Given the description of an element on the screen output the (x, y) to click on. 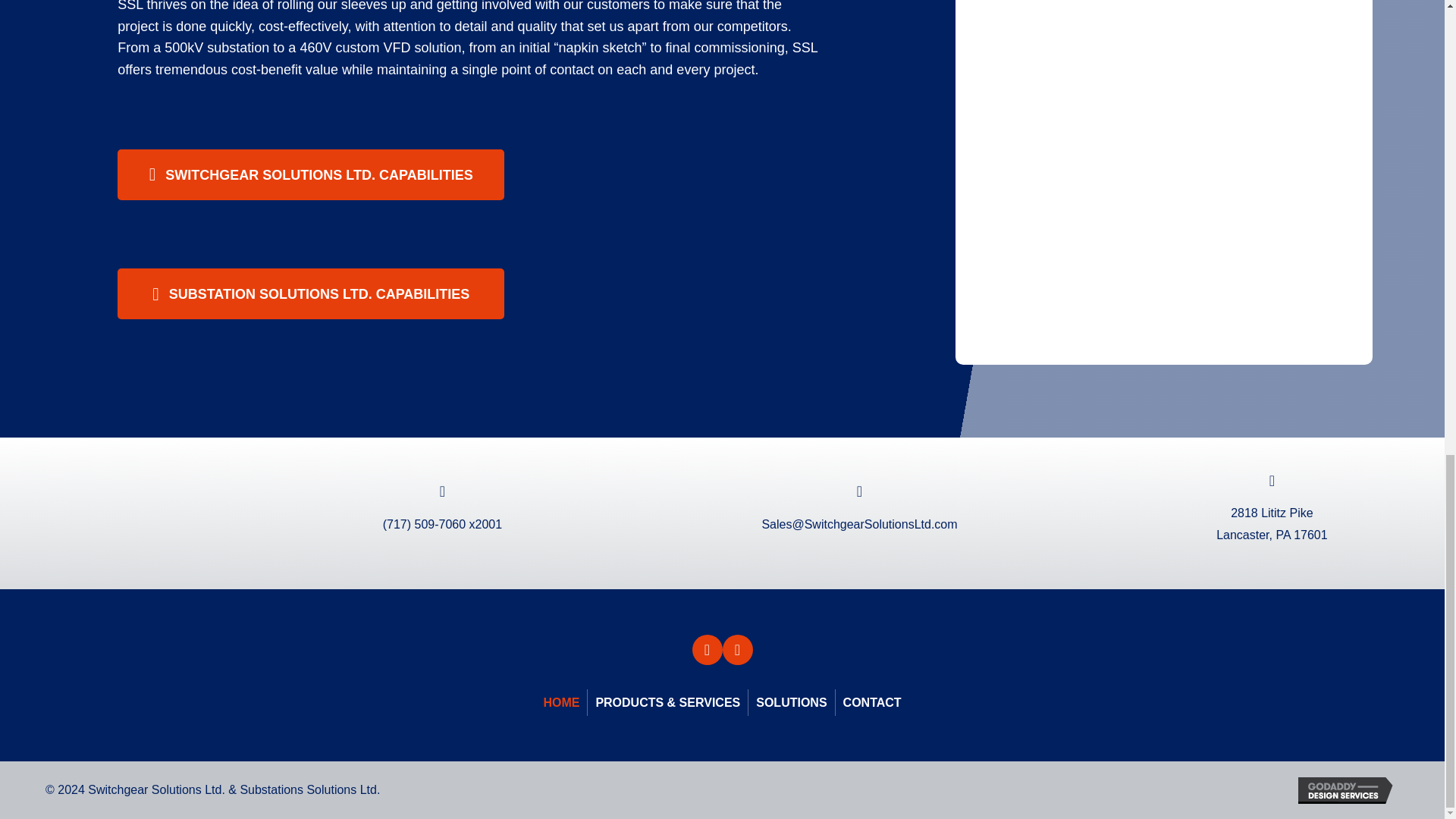
CONTACT (871, 702)
SWITCHGEAR SOLUTIONS LTD. CAPABILITIES (310, 174)
LinkedIn (737, 649)
SOLUTIONS (791, 702)
SUBSTATION SOLUTIONS LTD. CAPABILITIES (310, 293)
HOME (560, 702)
Twitter (706, 649)
